Given the description of an element on the screen output the (x, y) to click on. 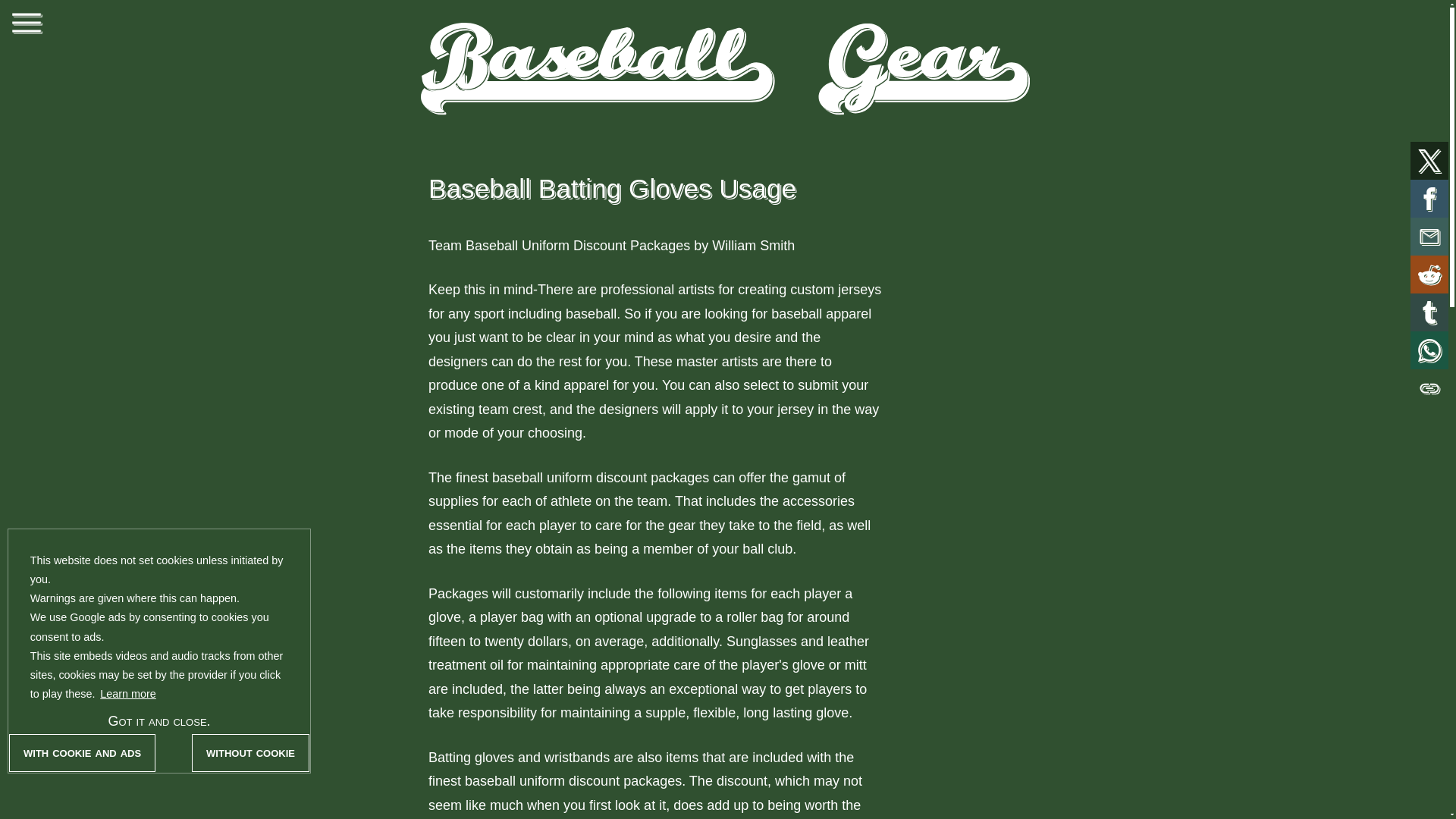
Baseball Gear Info (723, 64)
open (26, 22)
Baseball Gear (723, 64)
